Given the description of an element on the screen output the (x, y) to click on. 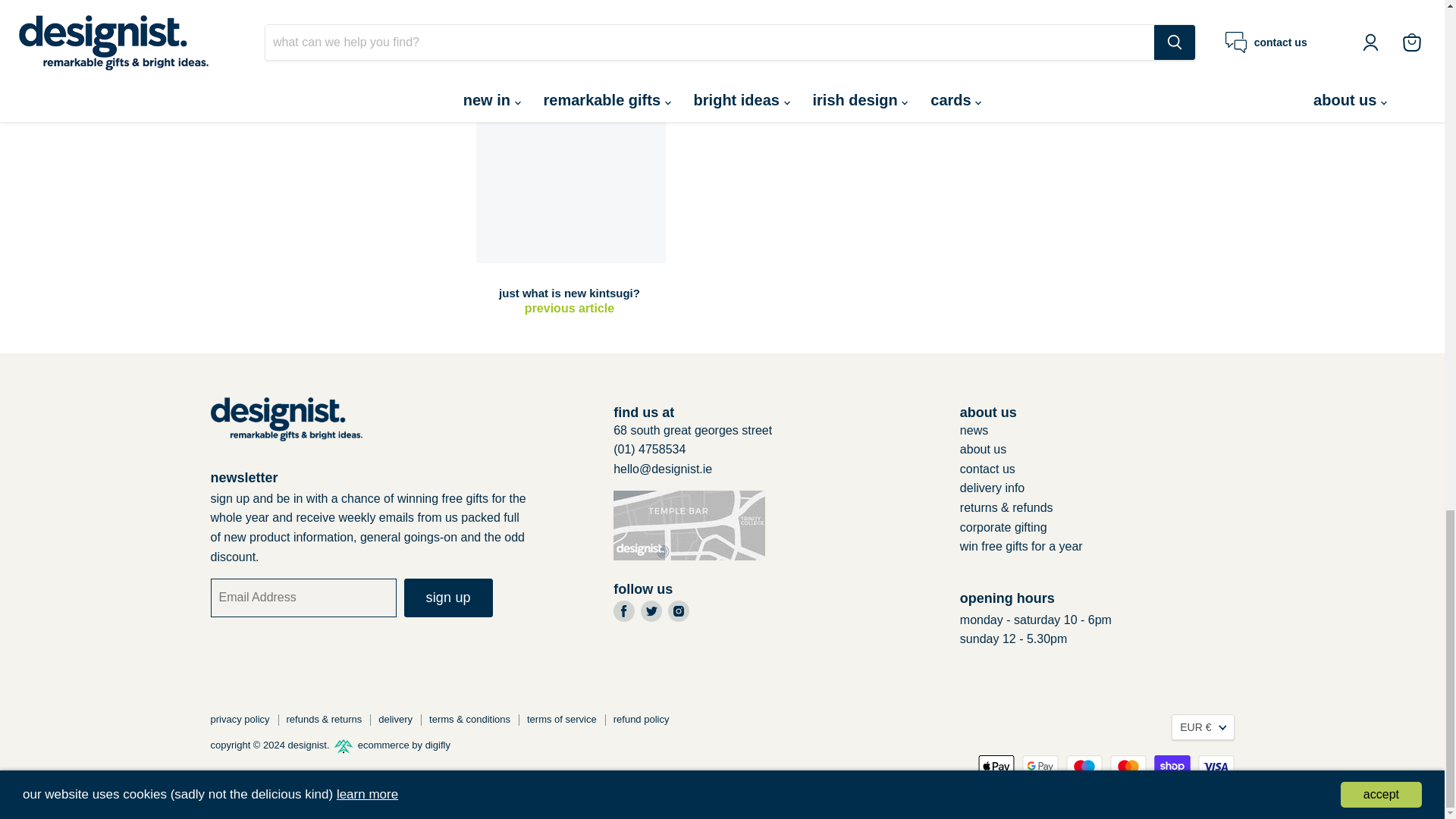
Show articles tagged laura (806, 15)
Facebook (623, 610)
Show articles tagged closed but open (592, 15)
Apple Pay (996, 766)
Show articles tagged work from home (864, 15)
Show articles tagged closed (530, 15)
Show articles tagged commuting (664, 15)
Show articles tagged designist (720, 15)
Google Pay (1040, 766)
Show articles tagged fern (759, 15)
